Given the description of an element on the screen output the (x, y) to click on. 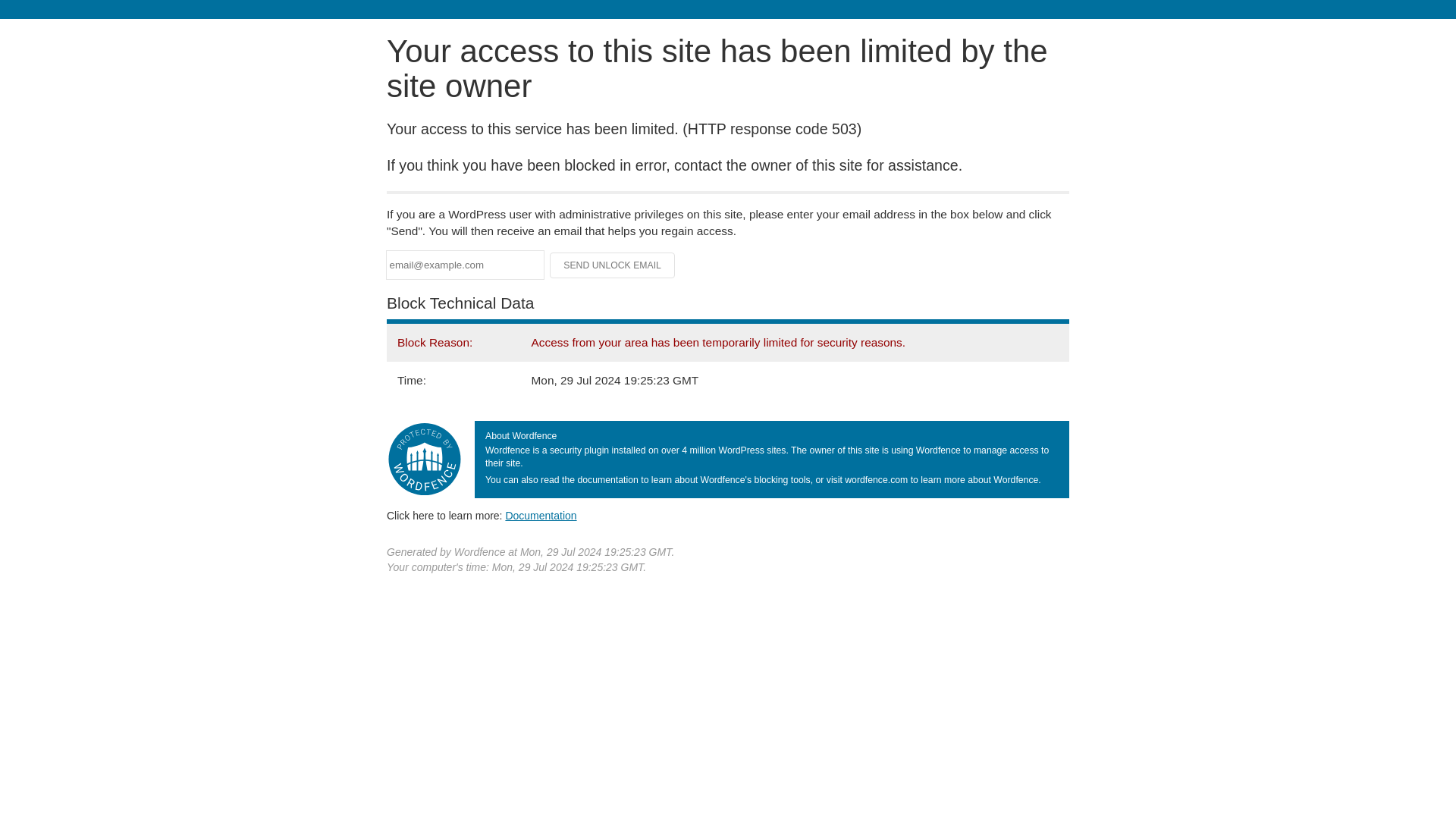
Send Unlock Email (612, 265)
Documentation (540, 515)
Send Unlock Email (612, 265)
